Given the description of an element on the screen output the (x, y) to click on. 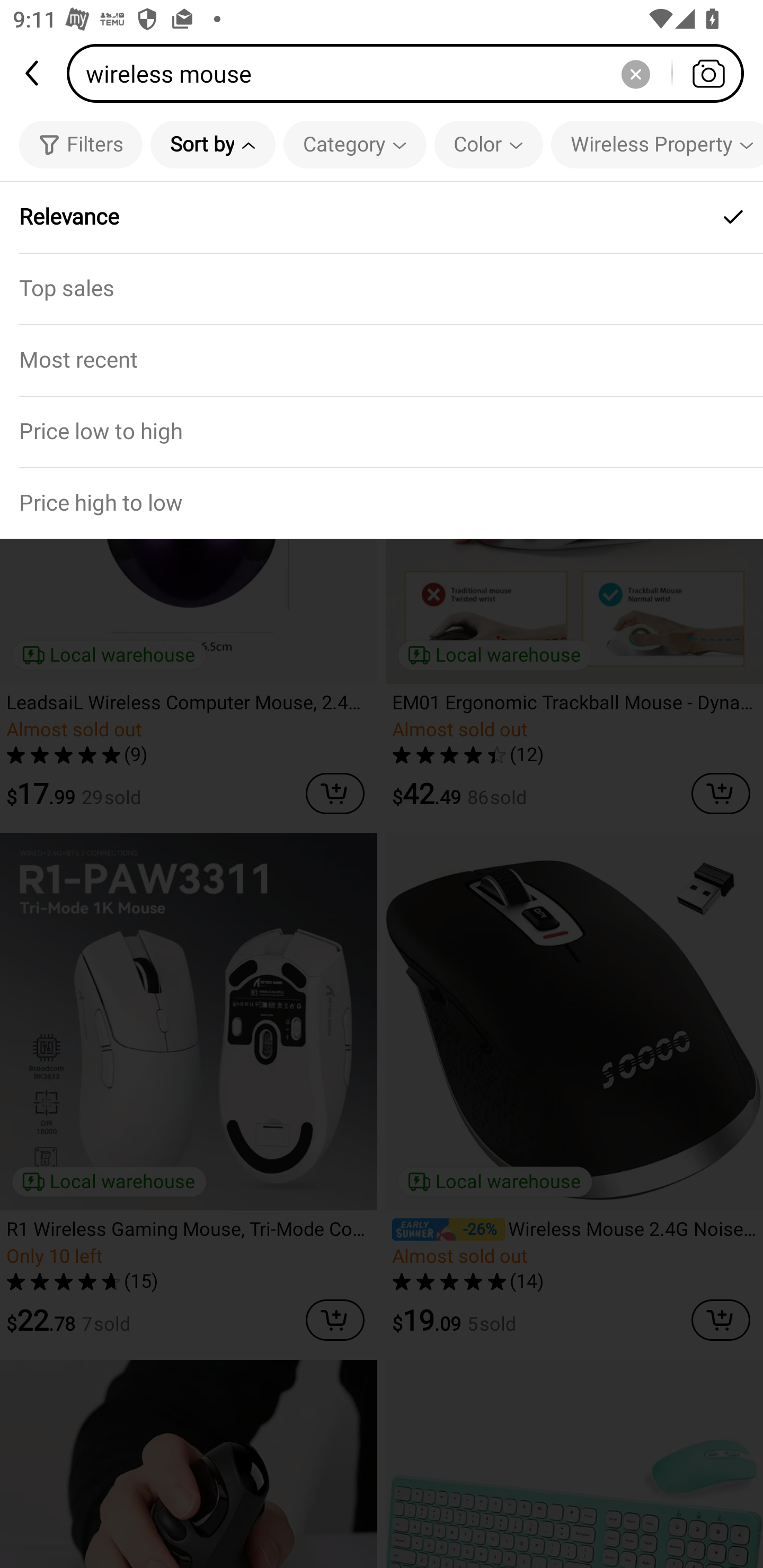
back (33, 72)
wireless mouse (411, 73)
Delete search history (635, 73)
Search by photo (708, 73)
Filters (80, 143)
Sort by (212, 143)
Category (354, 143)
Color (488, 143)
Wireless Property (656, 143)
Relevance (381, 216)
Top sales (381, 288)
Most recent (381, 359)
Price low to high (381, 431)
Price high to low (381, 503)
